Given the description of an element on the screen output the (x, y) to click on. 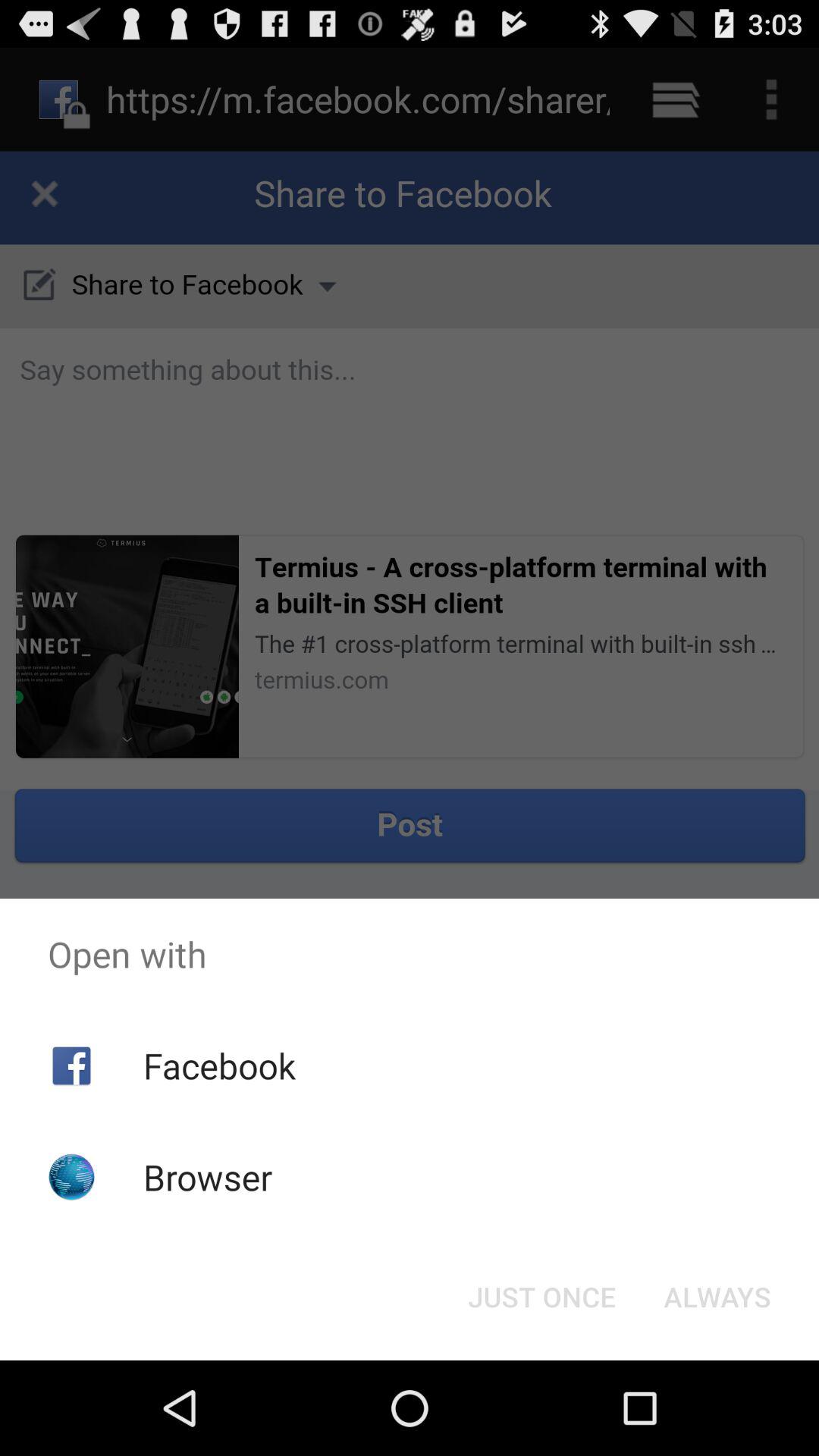
select icon below the facebook app (207, 1176)
